Given the description of an element on the screen output the (x, y) to click on. 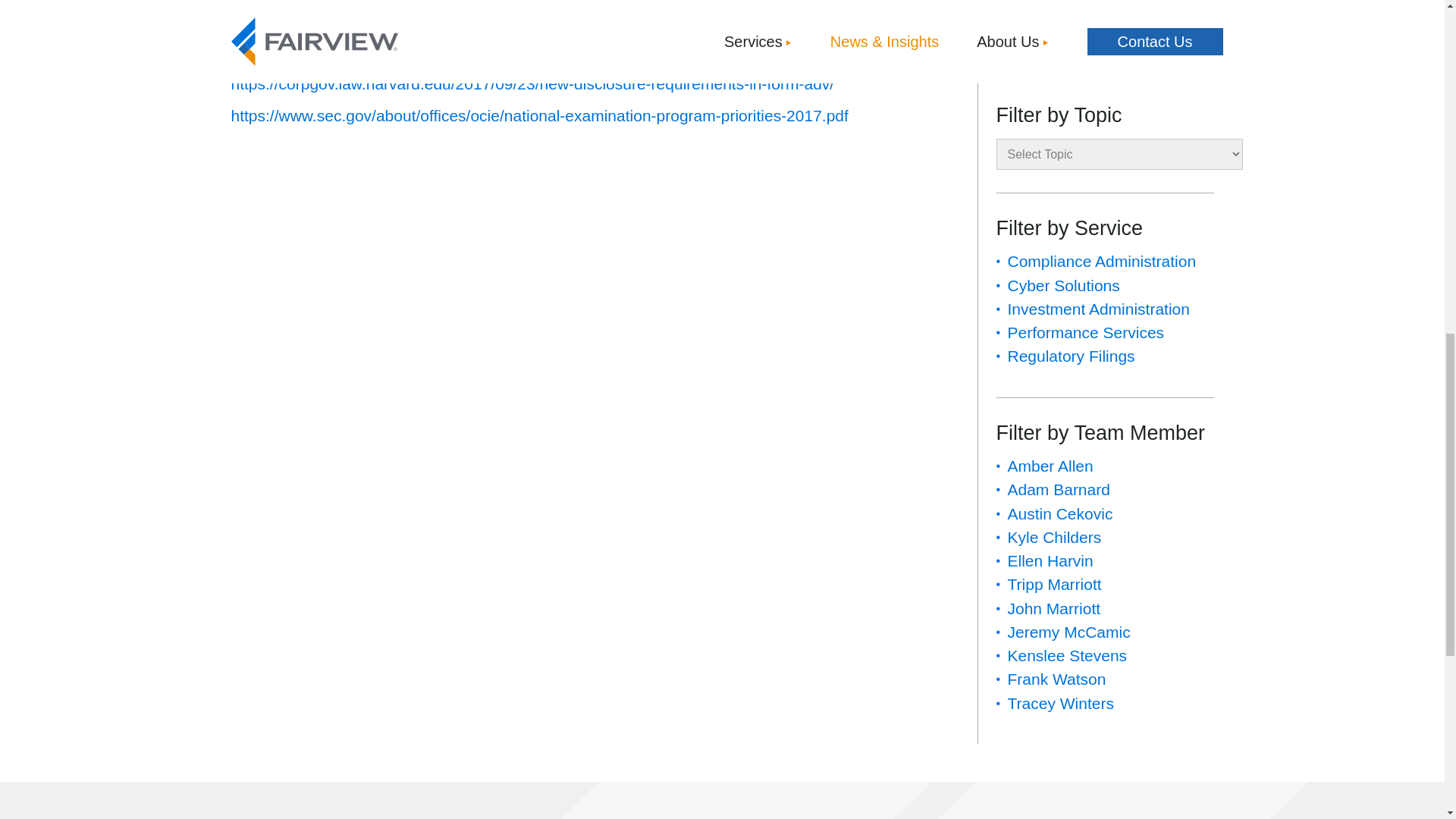
News (1026, 14)
Kenslee Stevens (1066, 655)
Regulatory Filings (1070, 355)
Investment Administration (1098, 308)
Frank Watson (1056, 678)
Ellen Harvin (1050, 560)
Austin Cekovic (1059, 513)
Cyber Solutions (1063, 285)
Tracey Winters (1060, 702)
Amber Allen (1050, 466)
